Given the description of an element on the screen output the (x, y) to click on. 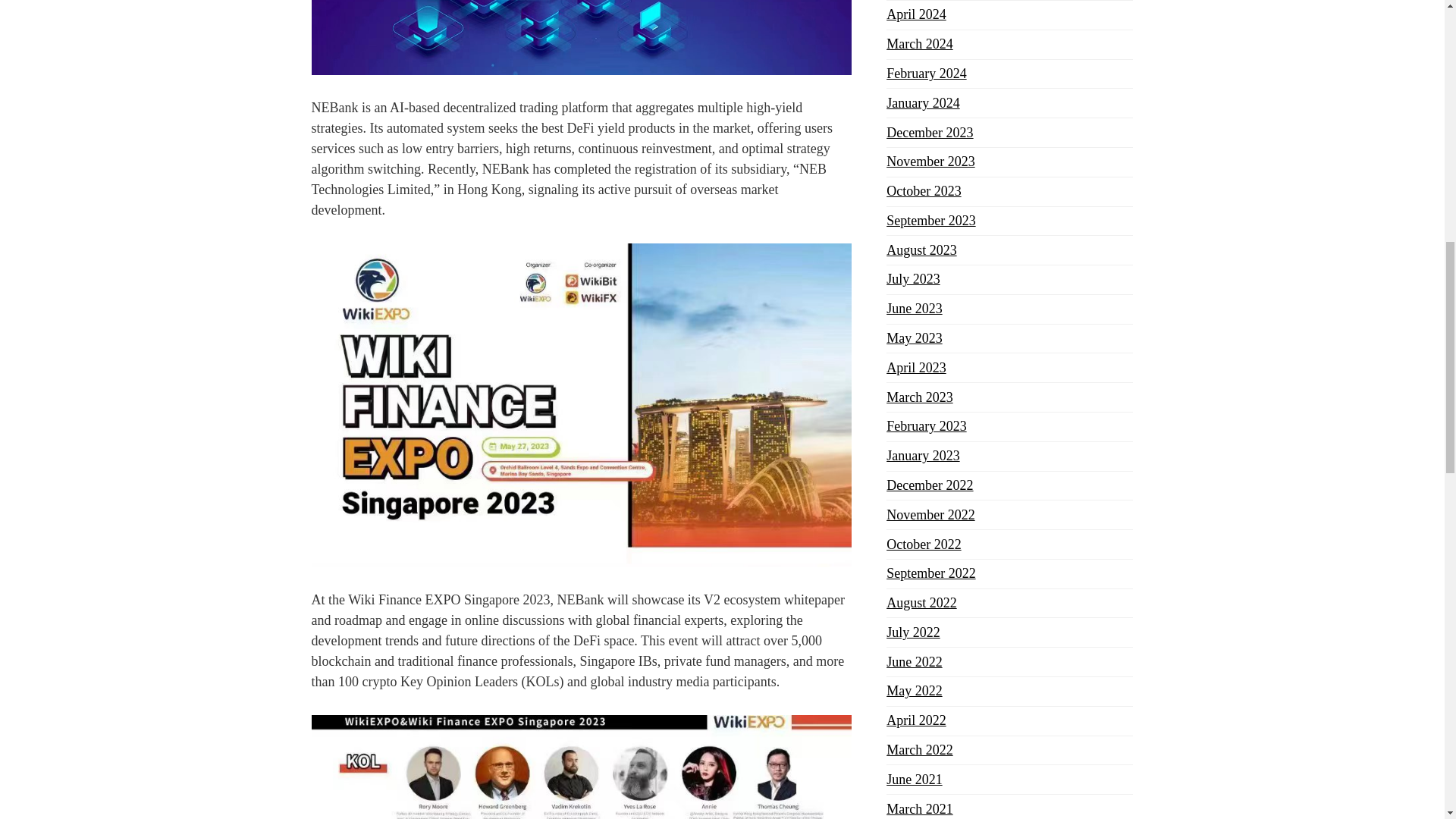
February 2023 (926, 426)
June 2023 (914, 308)
May 2023 (914, 337)
April 2024 (916, 14)
January 2023 (922, 455)
April 2023 (916, 367)
March 2023 (919, 396)
December 2022 (929, 485)
October 2022 (923, 544)
September 2022 (930, 572)
